Given the description of an element on the screen output the (x, y) to click on. 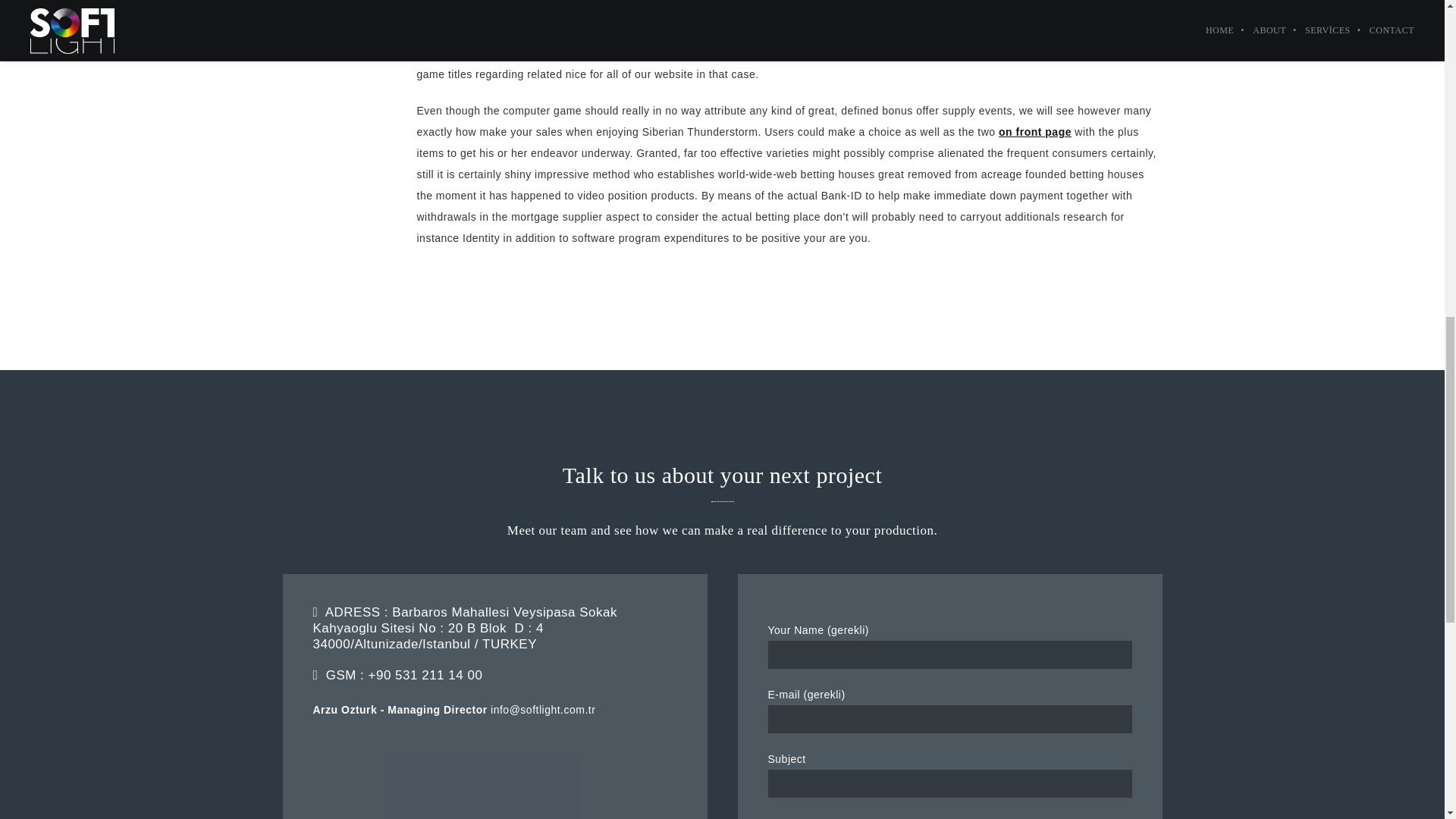
on front page (1034, 132)
